Given the description of an element on the screen output the (x, y) to click on. 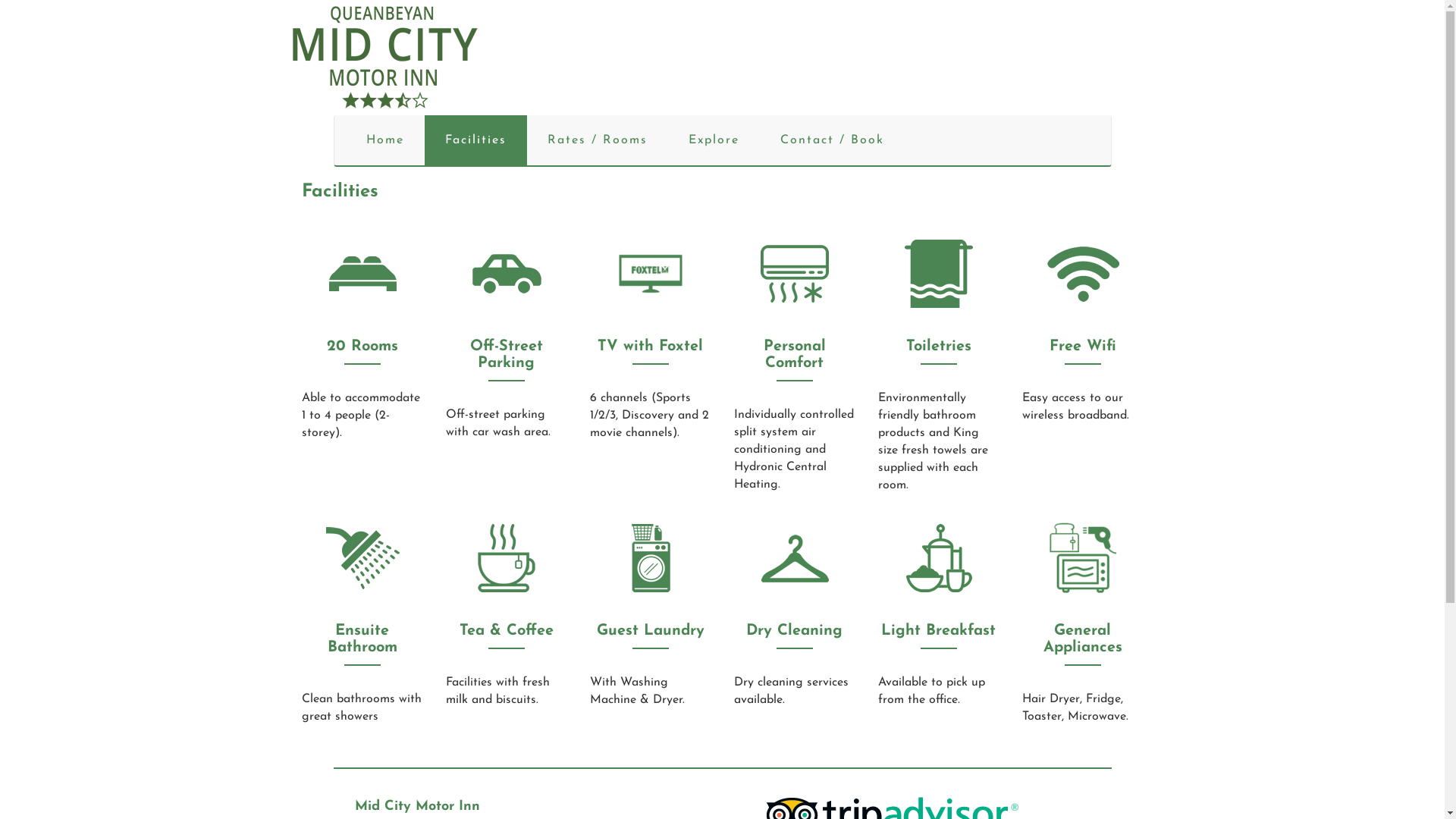
Contact / Book Element type: text (831, 140)
Facilities Element type: text (475, 140)
foxtel Element type: hover (650, 273)
appliances Element type: hover (1082, 558)
Home Element type: text (384, 140)
Explore Element type: text (713, 140)
Rates / Rooms Element type: text (596, 140)
